Given the description of an element on the screen output the (x, y) to click on. 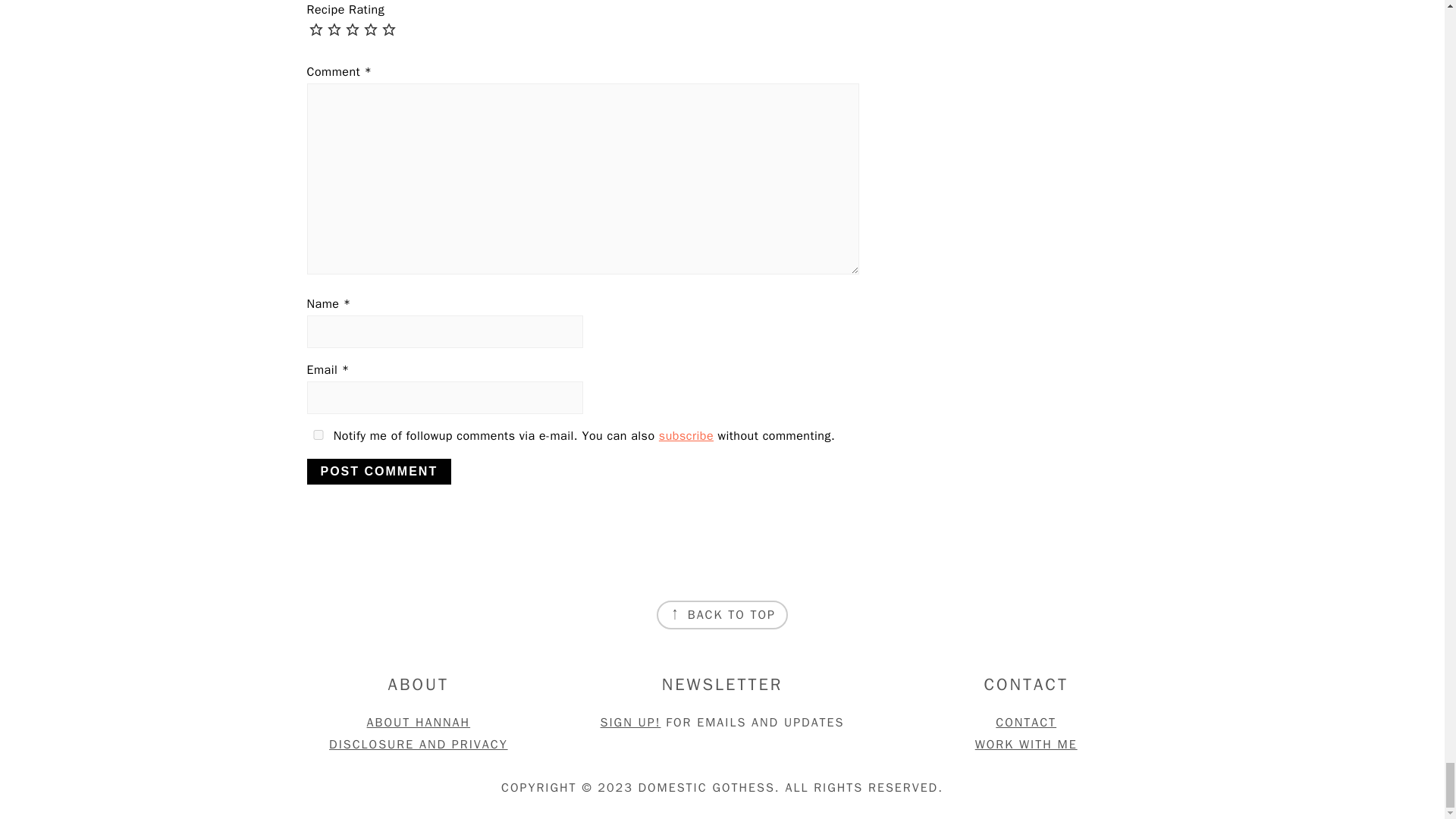
replies (317, 434)
Post Comment (378, 471)
